Given the description of an element on the screen output the (x, y) to click on. 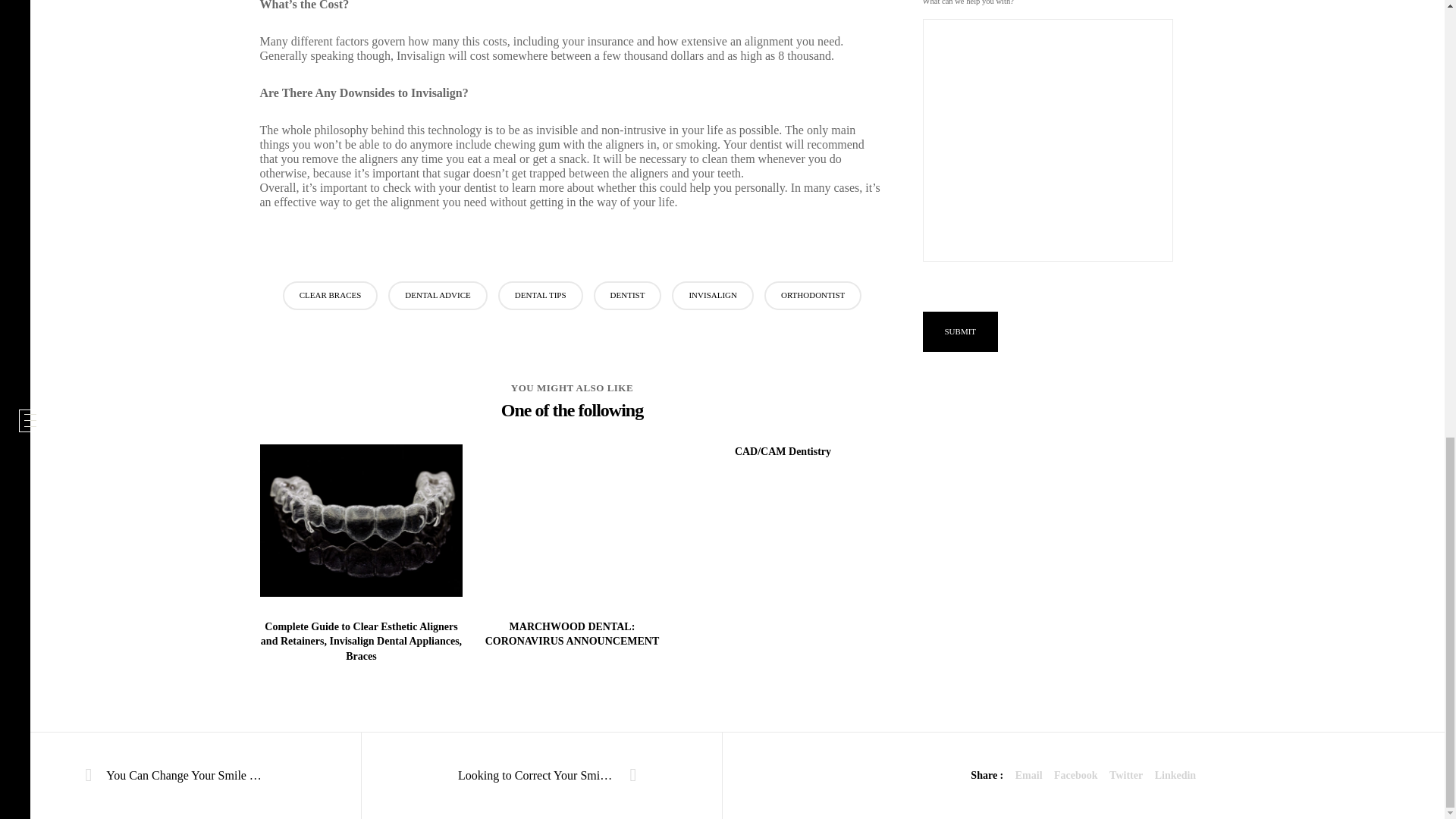
DENTIST (628, 295)
Submit (959, 332)
ORTHODONTIST (812, 295)
Invisalign FAQ: all you want to know about clear braces (1075, 775)
Submit (959, 332)
INVISALIGN (712, 295)
DENTAL TIPS (540, 295)
Invisalign FAQ: all you want to know about clear braces (1174, 775)
Invisalign FAQ: all you want to know about clear braces (1125, 775)
MARCHWOOD DENTAL: CORONAVIRUS ANNOUNCEMENT (571, 634)
